Given the description of an element on the screen output the (x, y) to click on. 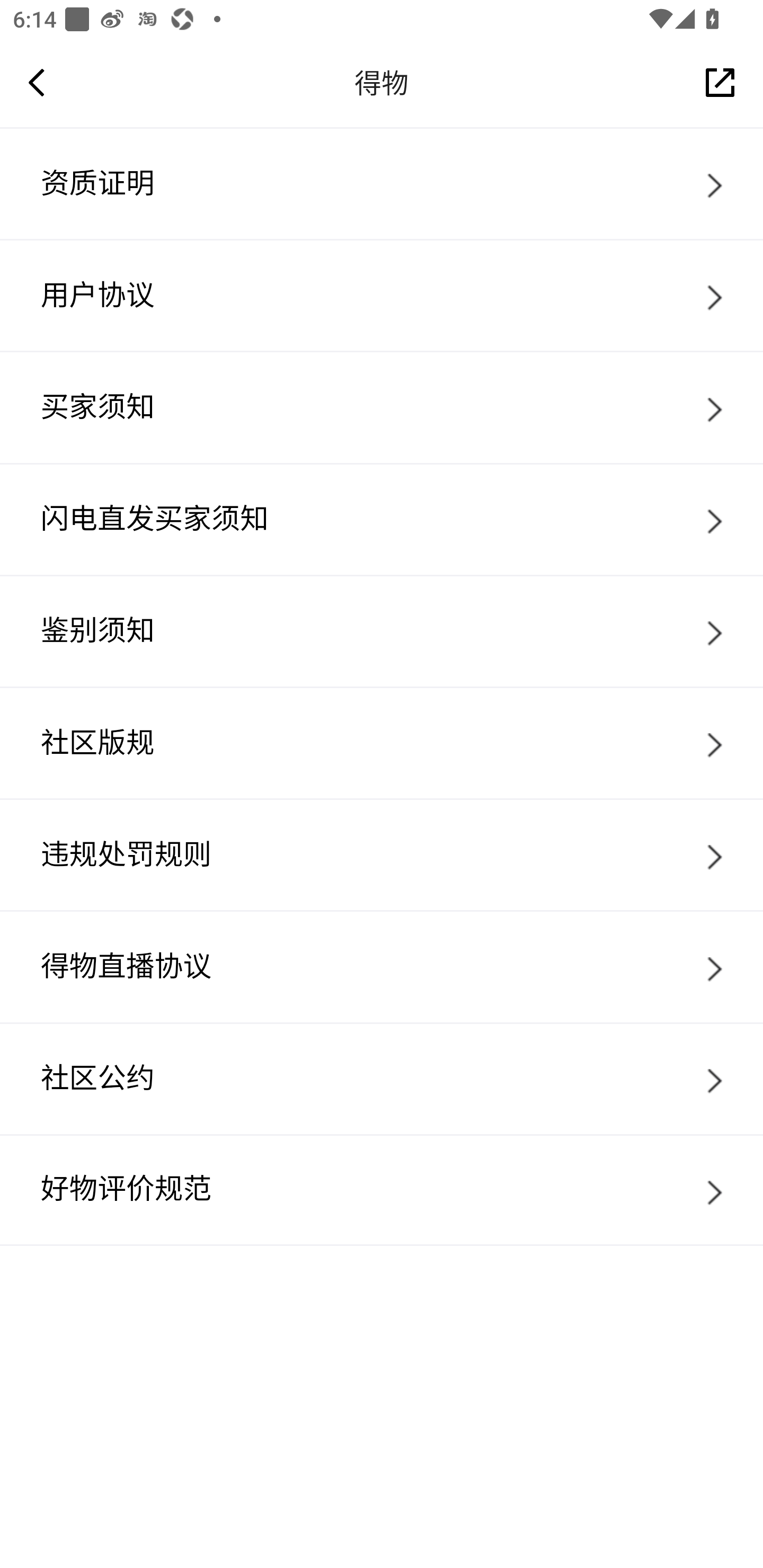
Navigate up (36, 82)
资质证明 arrow (381, 183)
用户协议 arrow (381, 294)
买家须知 arrow (381, 406)
闪电直发买家须知 arrow (381, 518)
鉴别须知 arrow (381, 629)
社区版规 arrow (381, 742)
违规处罚规则 arrow (381, 854)
得物直播协议 arrow (381, 966)
社区公约 arrow (381, 1078)
好物评价规范 arrow (381, 1189)
